Given the description of an element on the screen output the (x, y) to click on. 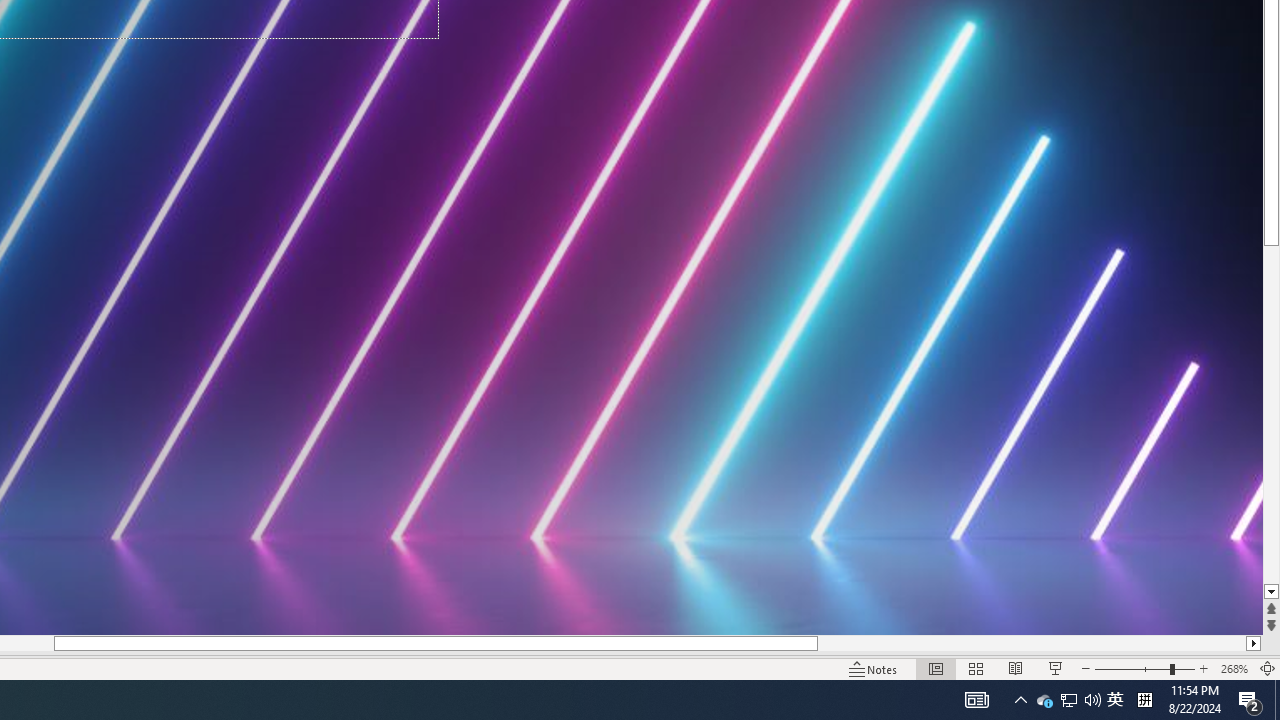
Zoom 268% (1234, 668)
